Given the description of an element on the screen output the (x, y) to click on. 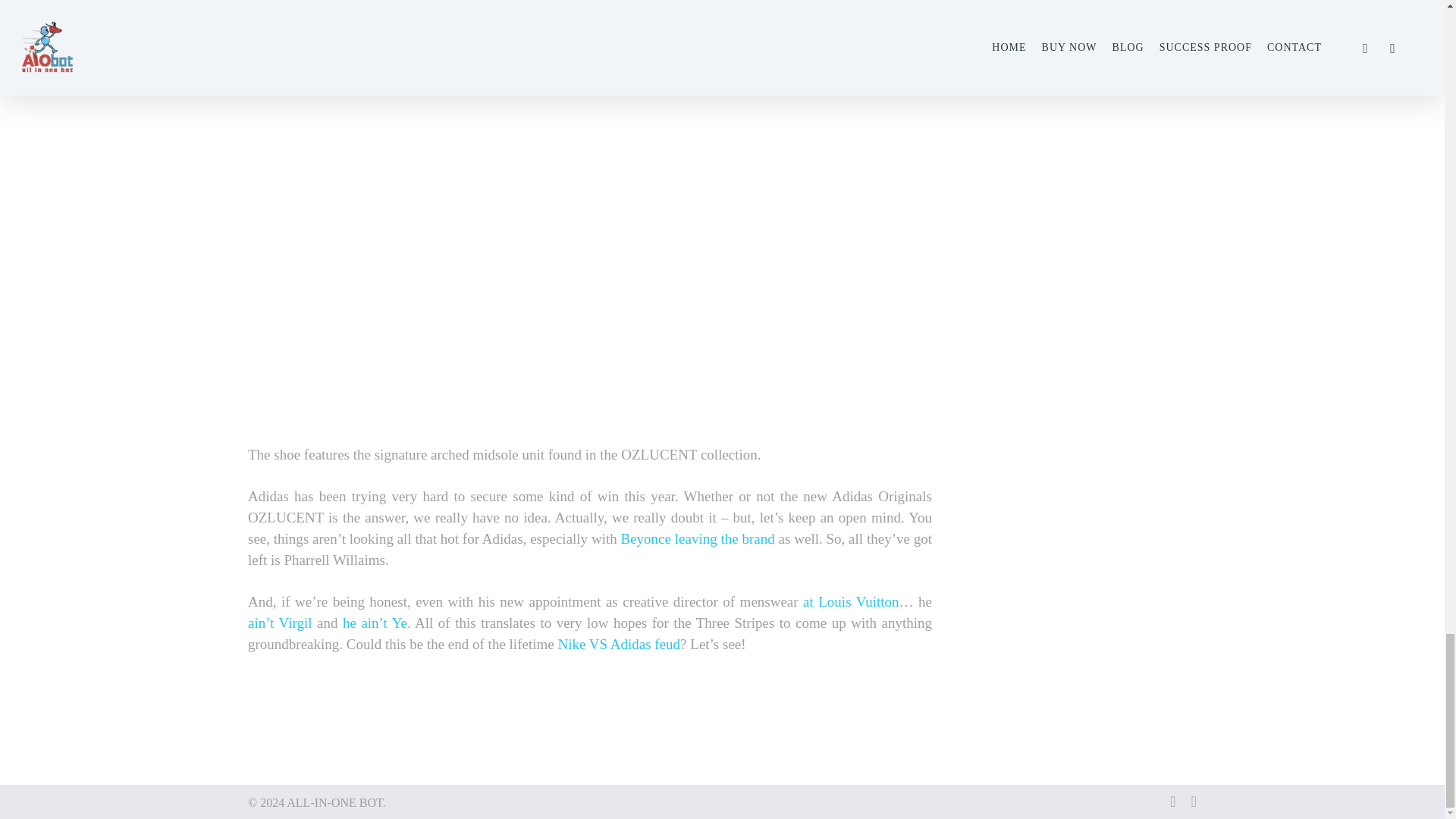
at Louis Vuitton (850, 601)
Beyonce leaving the brand (697, 538)
Nike VS Adidas feud (618, 643)
